Given the description of an element on the screen output the (x, y) to click on. 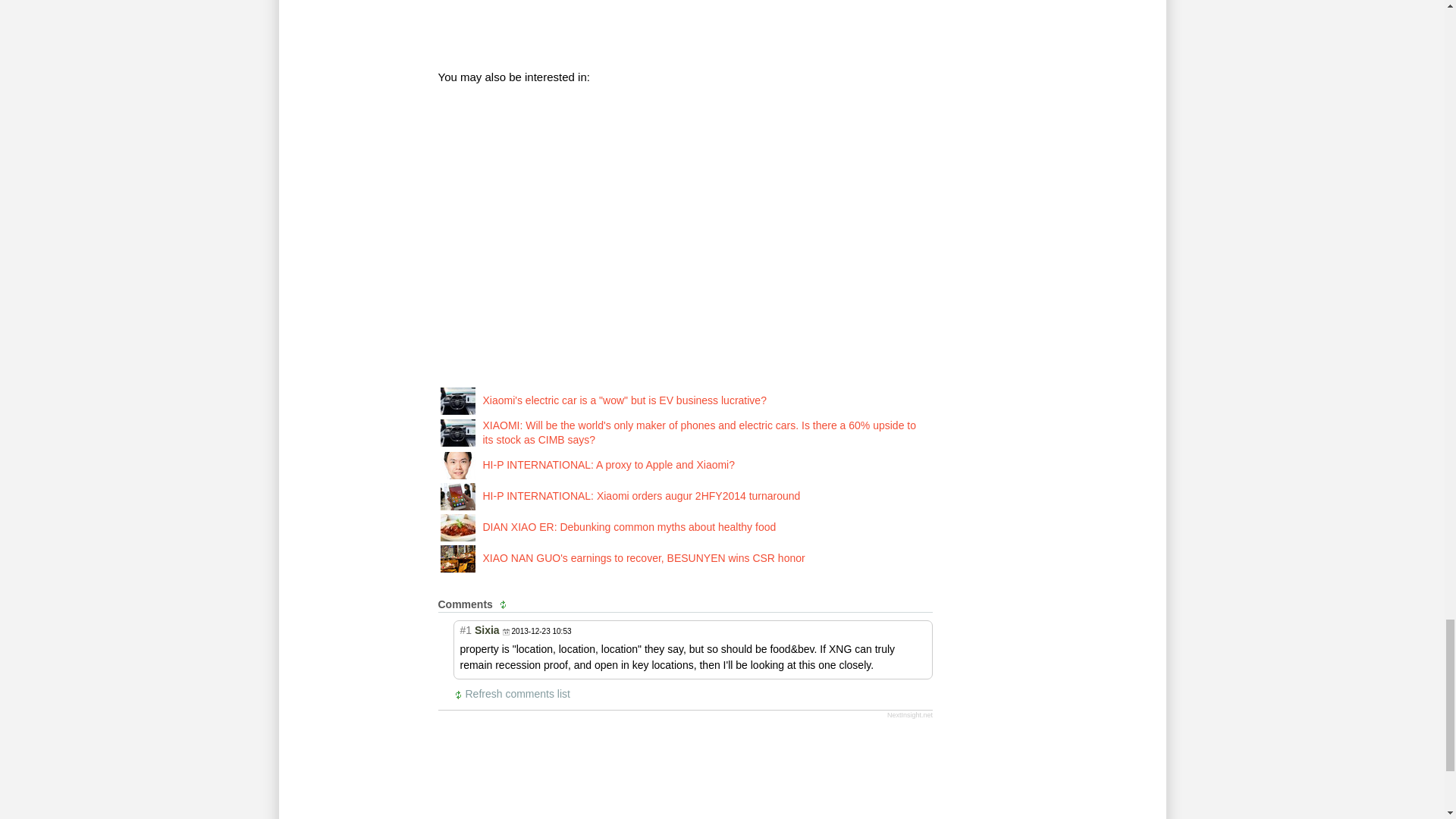
NextInsight.net (909, 715)
Refresh comments list (512, 694)
HI-P INTERNATIONAL: Xiaomi orders augur 2HFY2014 turnaround (640, 495)
XIAO NAN GUO's earnings to recover, BESUNYEN wins CSR honor (457, 558)
DIAN XIAO ER: Debunking common myths about healthy food (628, 526)
DIAN XIAO ER: Debunking common myths about healthy food (457, 526)
Refresh comments list (505, 604)
Xiaomi's electric car is a  (457, 399)
HI-P INTERNATIONAL: A proxy to Apple and Xiaomi? (608, 464)
HI-P INTERNATIONAL: A proxy to Apple and Xiaomi?  (457, 464)
XIAO NAN GUO's earnings to recover, BESUNYEN wins CSR honor (643, 558)
NextInsight.net (909, 715)
Refresh comments list (512, 694)
